Given the description of an element on the screen output the (x, y) to click on. 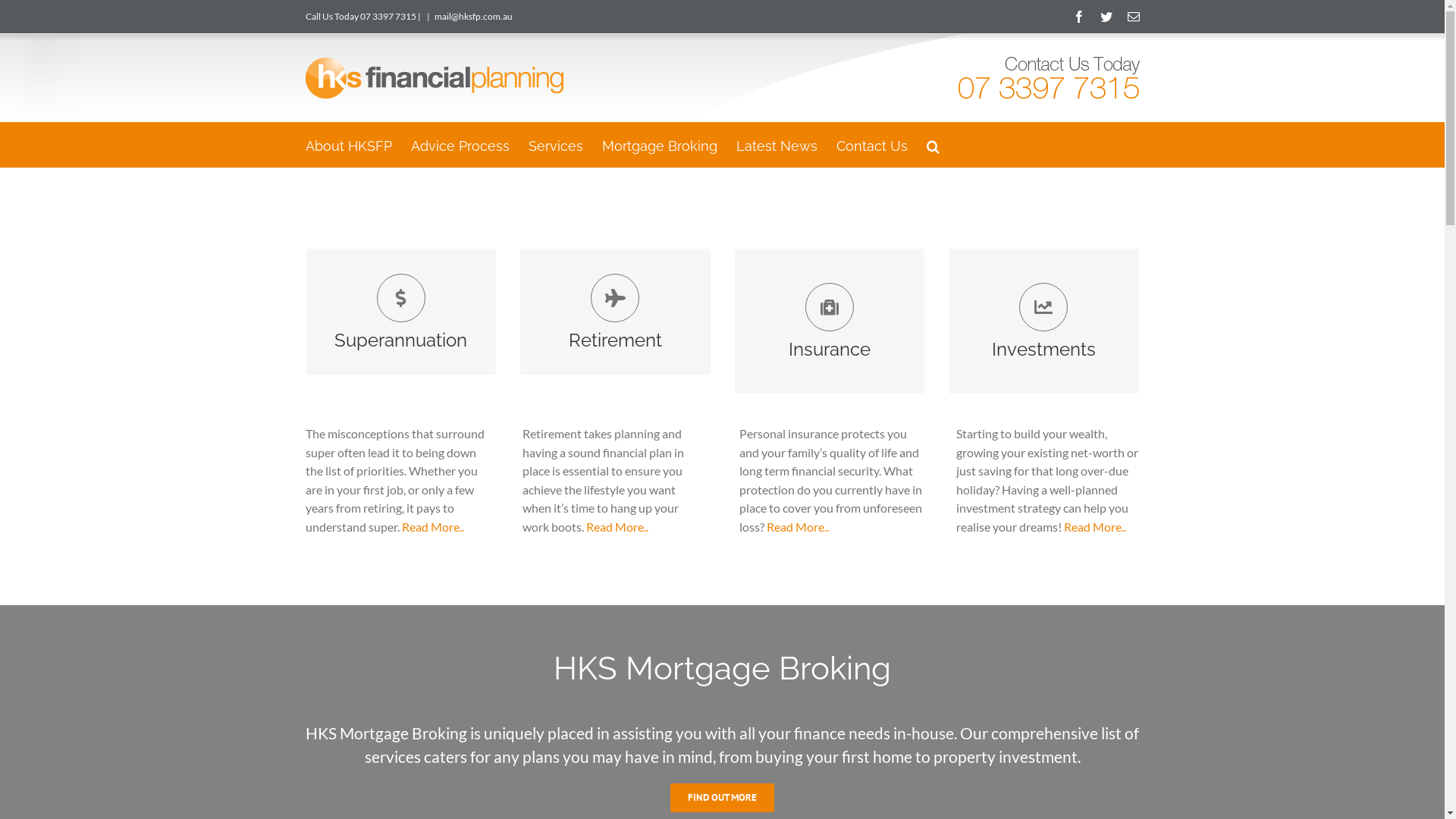
Mortgage Broking Element type: text (659, 144)
Search Element type: hover (932, 144)
FIND OUT MORE Element type: text (722, 797)
Read More.. Element type: text (1094, 526)
Read More.. Element type: text (796, 526)
FIND OUT MORE Element type: text (829, 356)
mail@hksfp.com.au Element type: text (472, 15)
FIND OUT MORE Element type: text (1043, 356)
Read More.. Element type: text (432, 526)
FIND OUT MORE Element type: text (400, 337)
Read More.. Element type: text (616, 526)
About HKSFP Element type: text (347, 144)
FIND OUT MORE Element type: text (615, 337)
Contact Us Element type: text (870, 144)
Services Element type: text (554, 144)
Twitter Element type: text (1105, 16)
Email Element type: text (1132, 16)
Facebook Element type: text (1078, 16)
Latest News Element type: text (775, 144)
Advice Process Element type: text (460, 144)
